Given the description of an element on the screen output the (x, y) to click on. 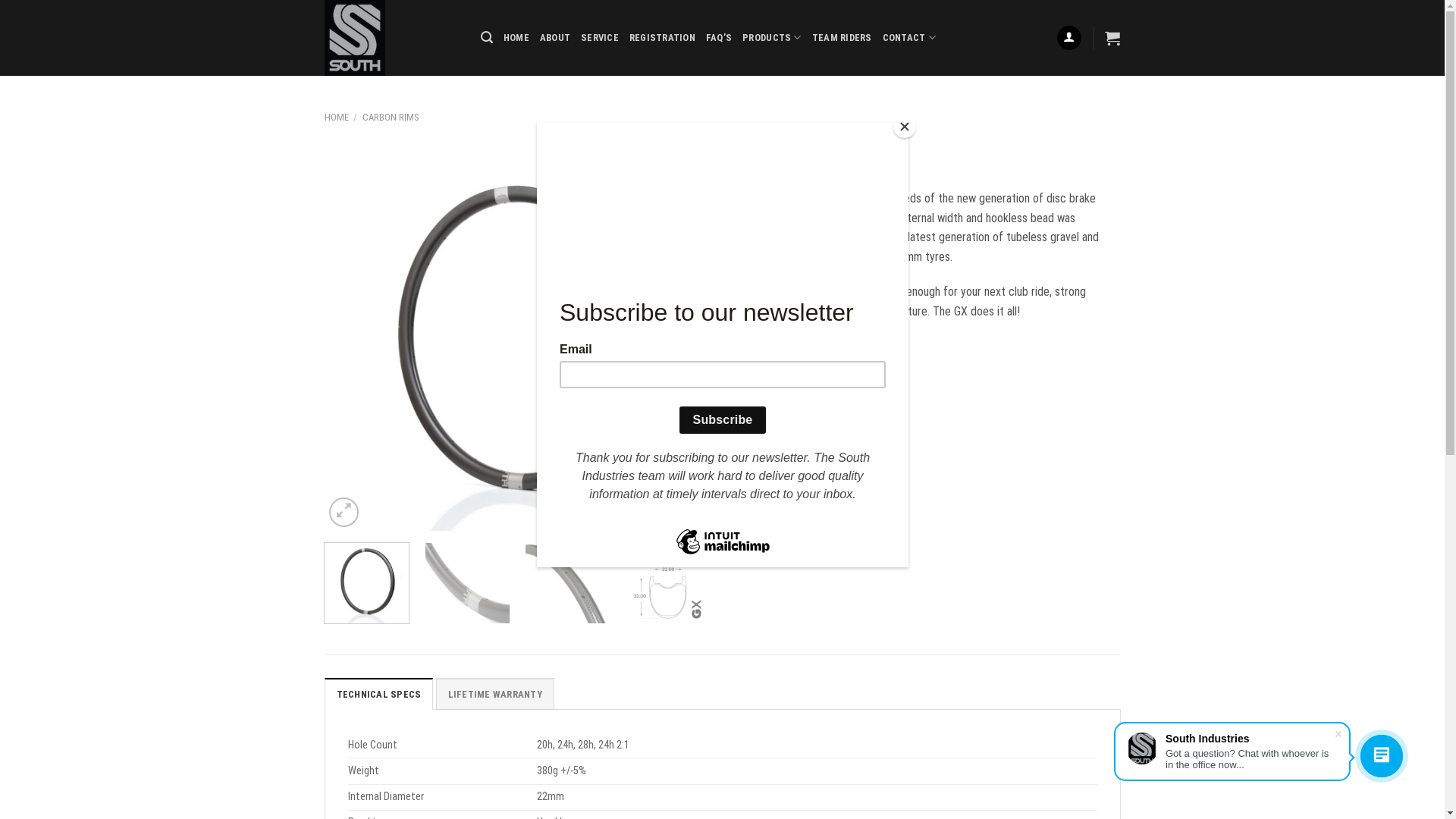
REGISTRATION Element type: text (662, 37)
TECHNICAL SPECS Element type: text (378, 693)
HOME Element type: text (516, 37)
LIFETIME WARRANTY Element type: text (495, 693)
HOME Element type: text (336, 116)
TEAM RIDERS Element type: text (842, 37)
Basket Element type: hover (1112, 37)
Share on Twitter Element type: hover (774, 348)
South Industries - Carbon Composite Rims Element type: hover (391, 37)
ABOUT Element type: text (554, 37)
Share on Facebook Element type: hover (746, 348)
ENQUIRE NOW Element type: text (774, 407)
SERVICE Element type: text (599, 37)
CONTACT Element type: text (908, 37)
Email to a Friend Element type: hover (801, 348)
PRODUCTS Element type: text (771, 37)
SouthIndustries-14-08-23-G3-01 Element type: hover (517, 337)
Zoom Element type: hover (343, 512)
CARBON RIMS Element type: text (390, 116)
